Given the description of an element on the screen output the (x, y) to click on. 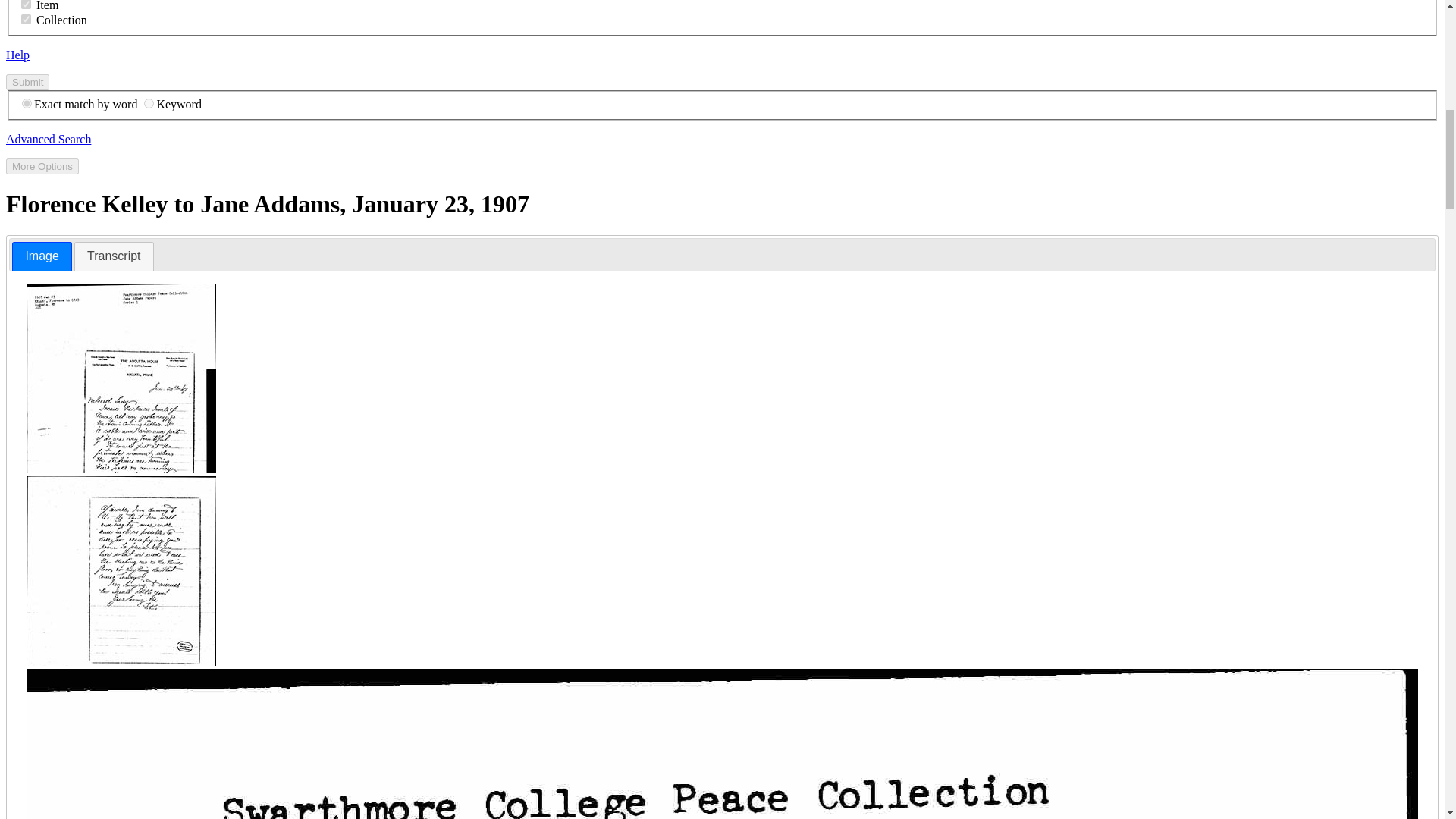
Help (17, 54)
Collection (25, 19)
Image (41, 256)
Transcript (113, 256)
Submit (27, 82)
More Options (41, 166)
Item (25, 4)
keyword (149, 103)
Advanced Search (47, 138)
